Given the description of an element on the screen output the (x, y) to click on. 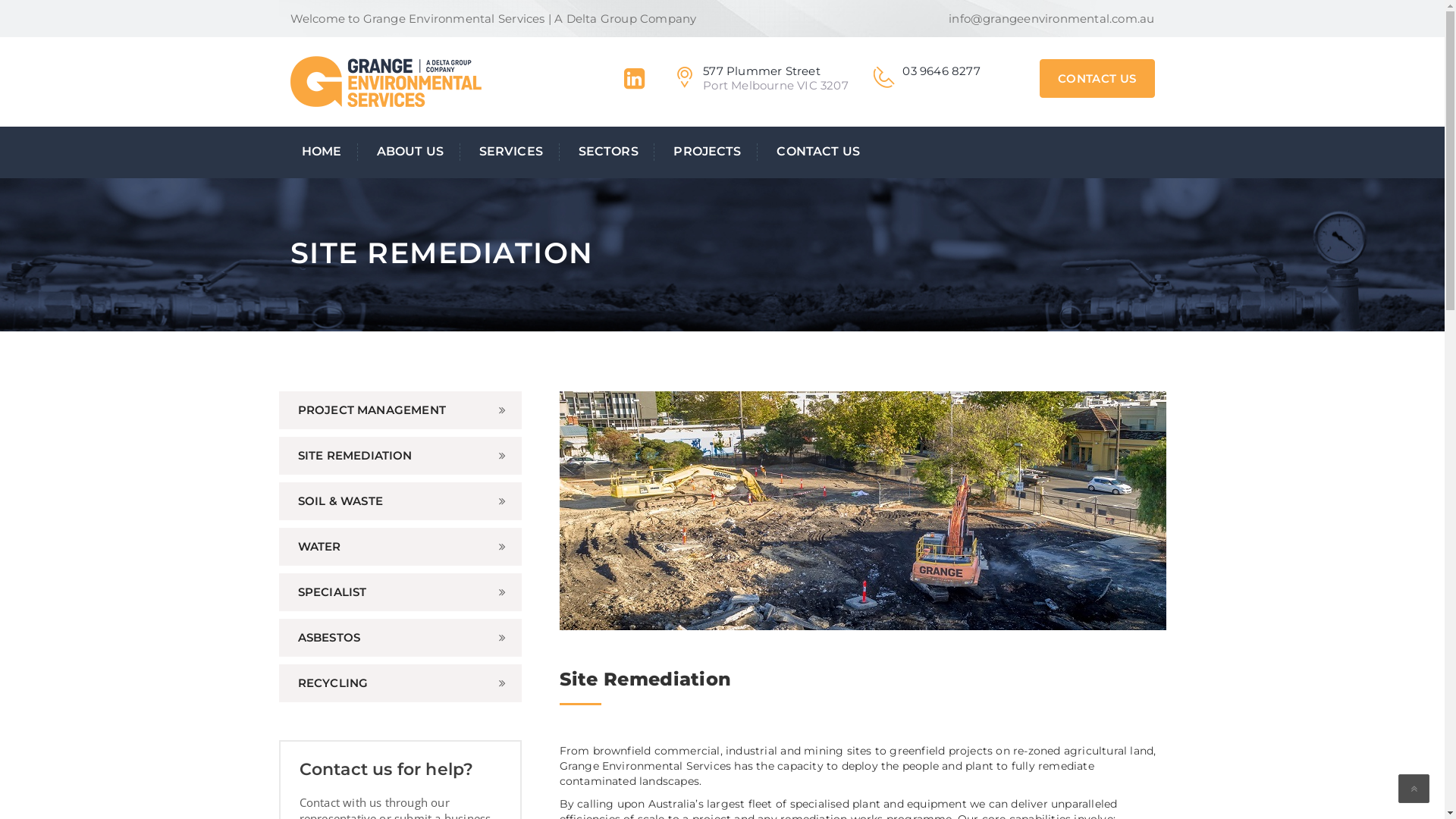
SITE REMEDIATION Element type: text (400, 455)
RECYCLING Element type: text (400, 683)
PROJECT MANAGEMENT Element type: text (400, 410)
SERVICES Element type: text (511, 151)
ABOUT US Element type: text (410, 151)
WATER Element type: text (400, 546)
CONTACT US Element type: text (810, 151)
PROJECTS Element type: text (708, 151)
CONTACT US Element type: text (1096, 78)
SOIL & WASTE Element type: text (400, 501)
HOME Element type: text (329, 151)
SECTORS Element type: text (608, 151)
SPECIALIST Element type: text (400, 592)
Site Remediation Feature2 Element type: hover (862, 510)
Grange Environmental - Linkedin Element type: hover (634, 82)
Grange Environmental Element type: hover (384, 80)
ASBESTOS Element type: text (400, 637)
